Given the description of an element on the screen output the (x, y) to click on. 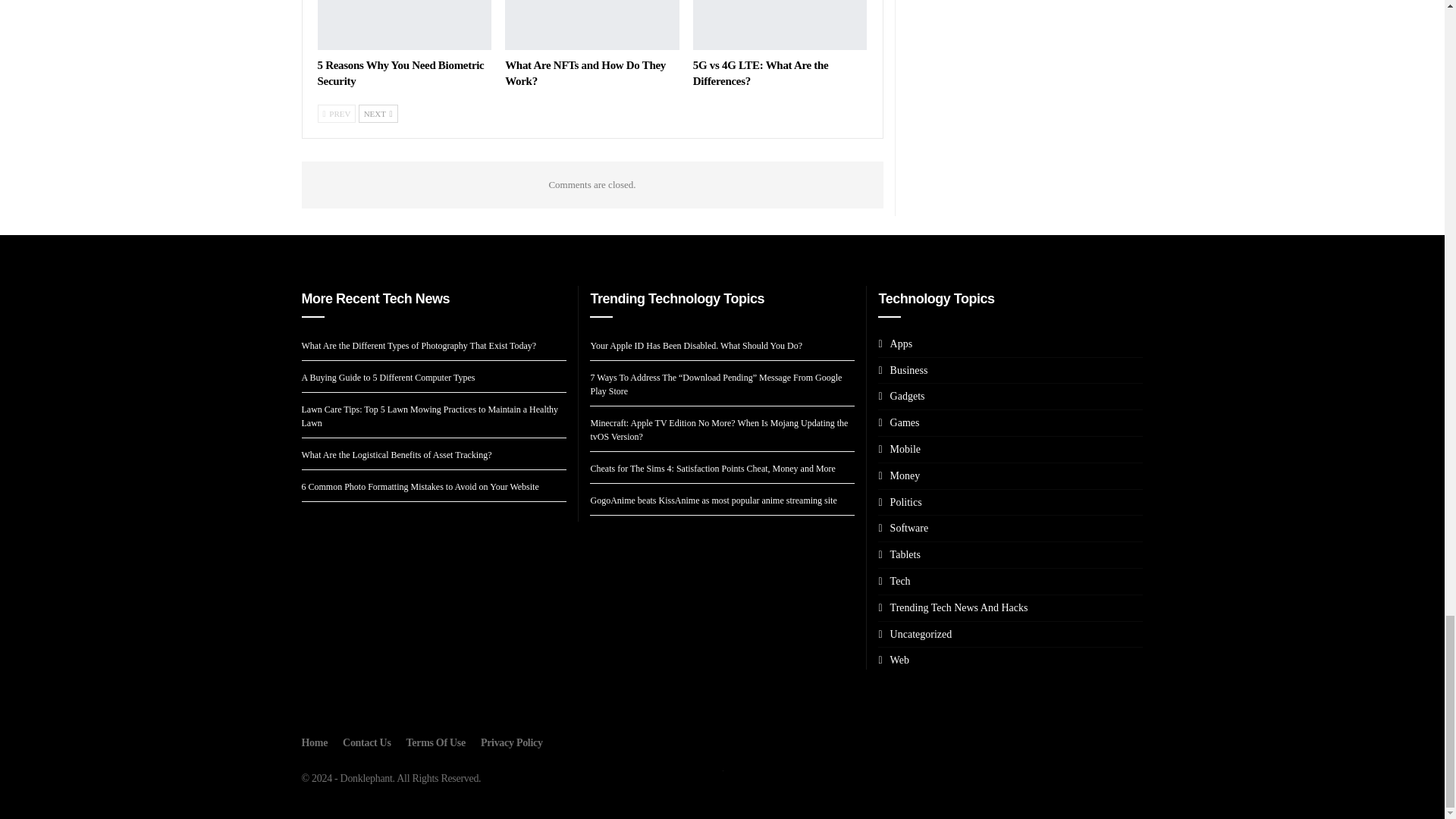
5 Reasons Why You Need Biometric Security (404, 24)
5 Reasons Why You Need Biometric Security (400, 72)
What Are NFTs and How Do They Work? (592, 24)
5G vs 4G LTE: What Are the Differences? (760, 72)
Previous (336, 113)
What Are NFTs and How Do They Work? (585, 72)
Next (377, 113)
5G vs 4G LTE: What Are the Differences? (780, 24)
